Given the description of an element on the screen output the (x, y) to click on. 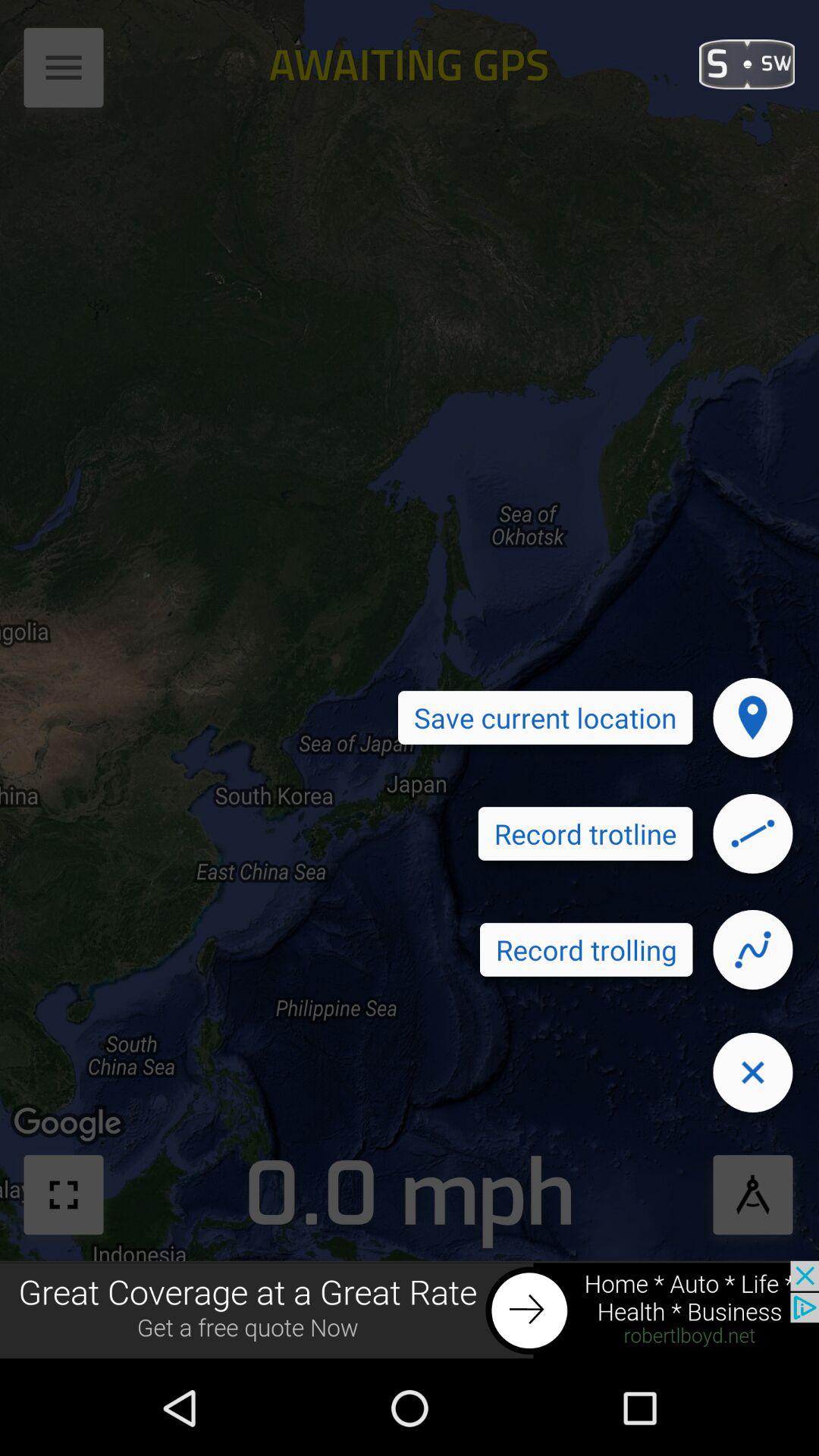
for the location (752, 717)
